Given the description of an element on the screen output the (x, y) to click on. 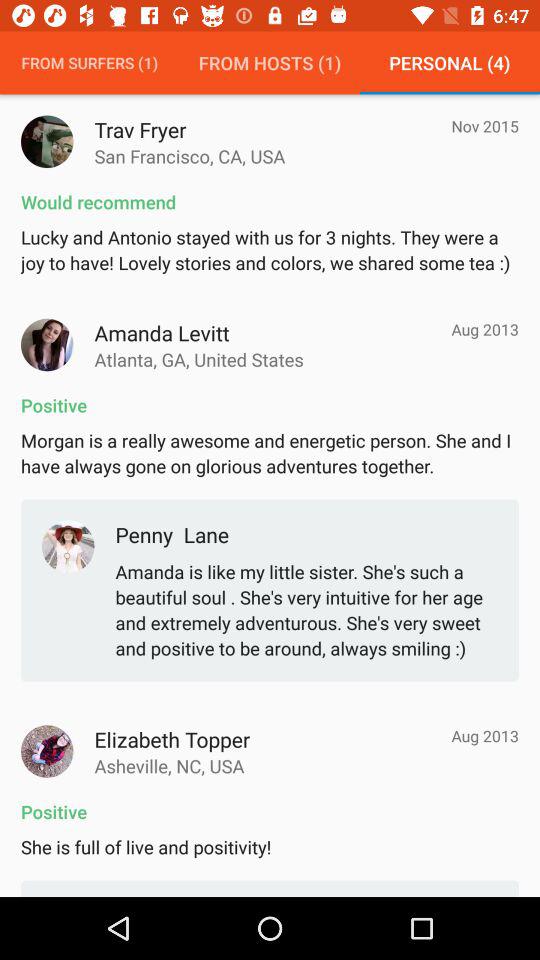
user image (47, 141)
